Given the description of an element on the screen output the (x, y) to click on. 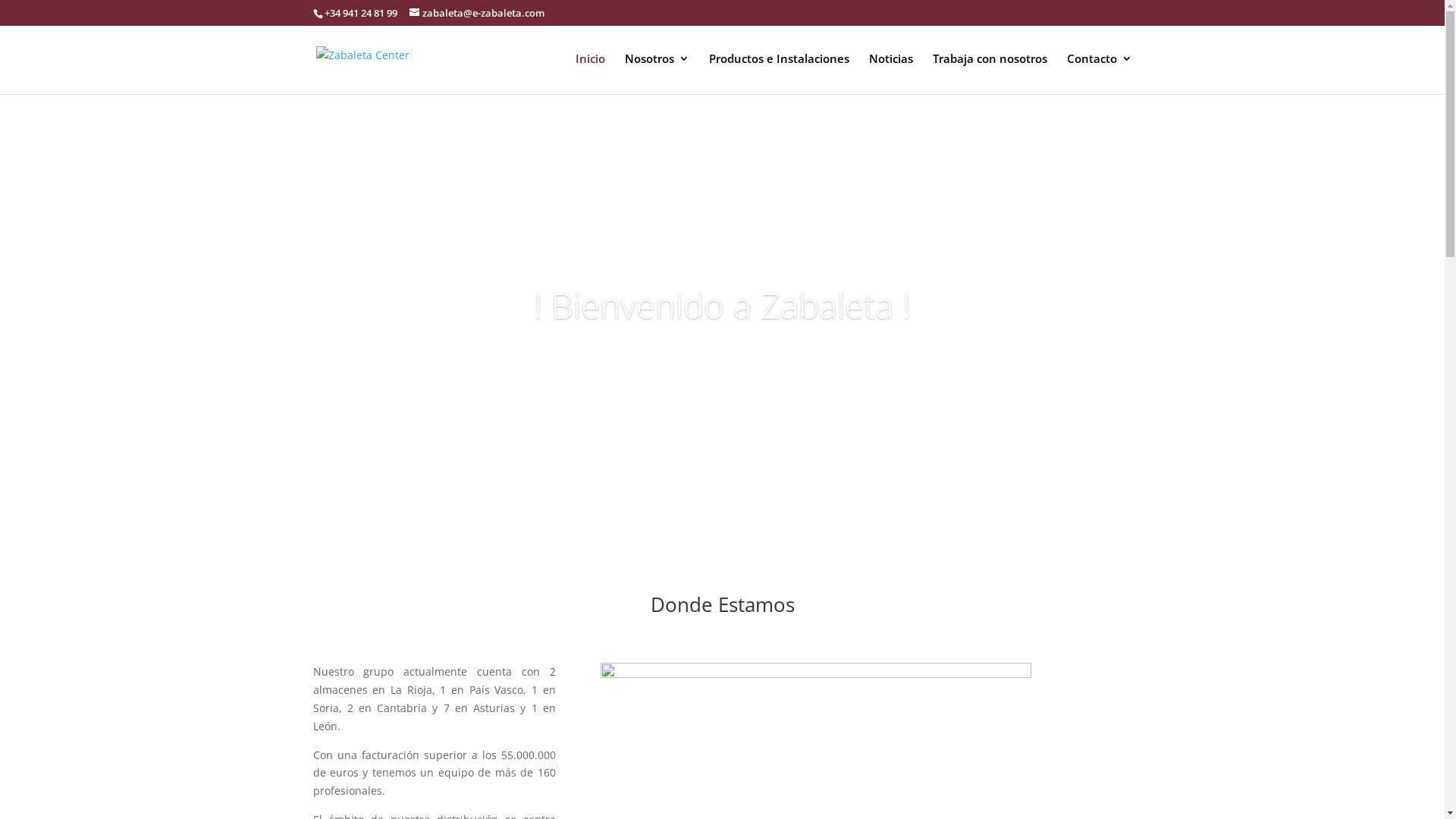
Inicio Element type: text (589, 73)
Productos e Instalaciones Element type: text (778, 73)
Nosotros Element type: text (656, 73)
Contacto Element type: text (1098, 73)
Trabaja con nosotros Element type: text (989, 73)
Noticias Element type: text (891, 73)
zabaleta@e-zabaleta.com Element type: text (476, 12)
